Given the description of an element on the screen output the (x, y) to click on. 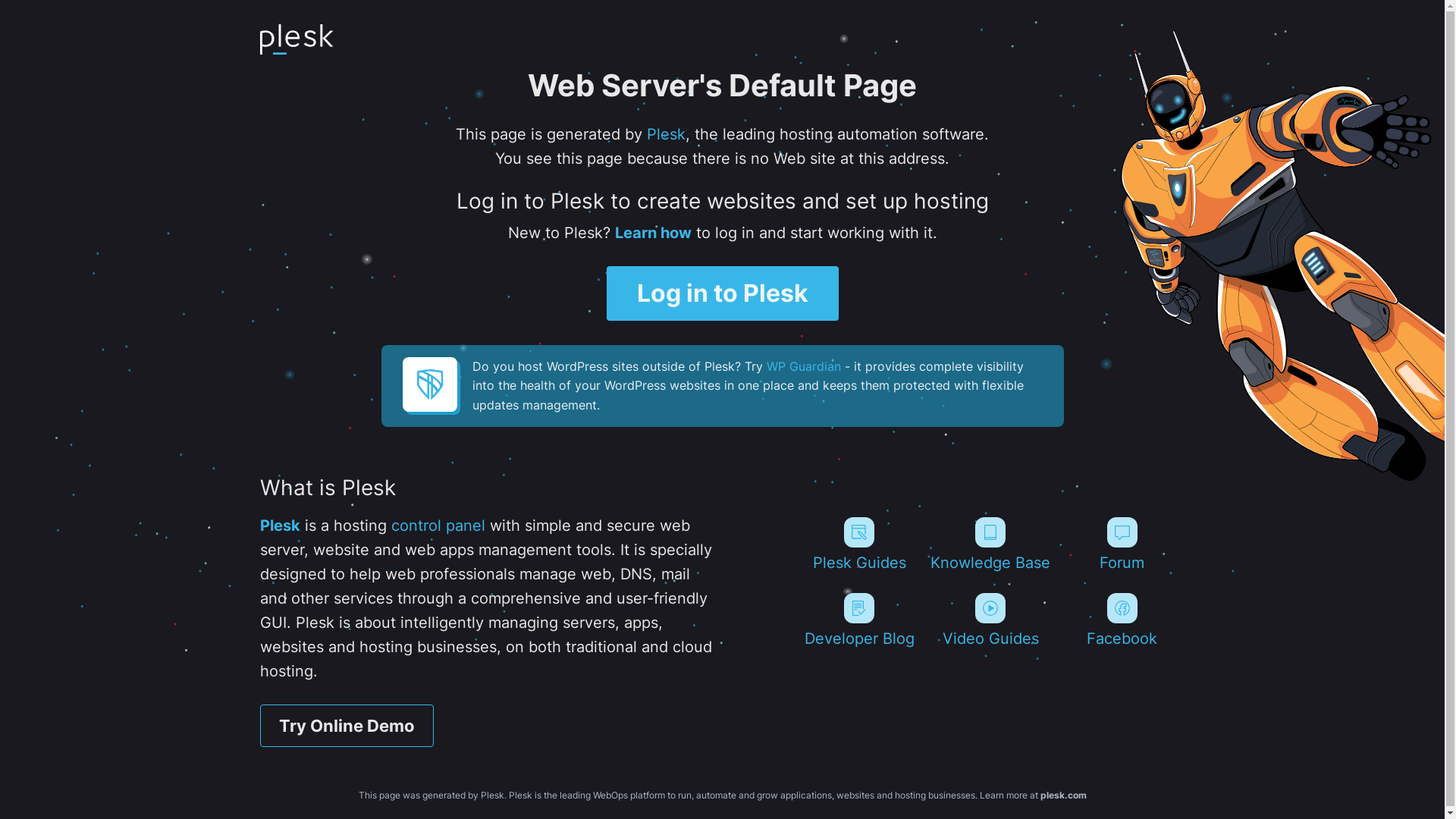
Plesk Element type: text (279, 525)
Try Online Demo Element type: text (346, 725)
Learn how Element type: text (652, 232)
WP Guardian Element type: text (802, 365)
Plesk Guides Element type: text (858, 544)
Forum Element type: text (1121, 544)
Facebook Element type: text (1121, 620)
Log in to Plesk Element type: text (722, 293)
Video Guides Element type: text (990, 620)
Knowledge Base Element type: text (990, 544)
Developer Blog Element type: text (858, 620)
plesk.com Element type: text (1063, 794)
control panel Element type: text (438, 525)
Plesk Element type: text (665, 134)
